Given the description of an element on the screen output the (x, y) to click on. 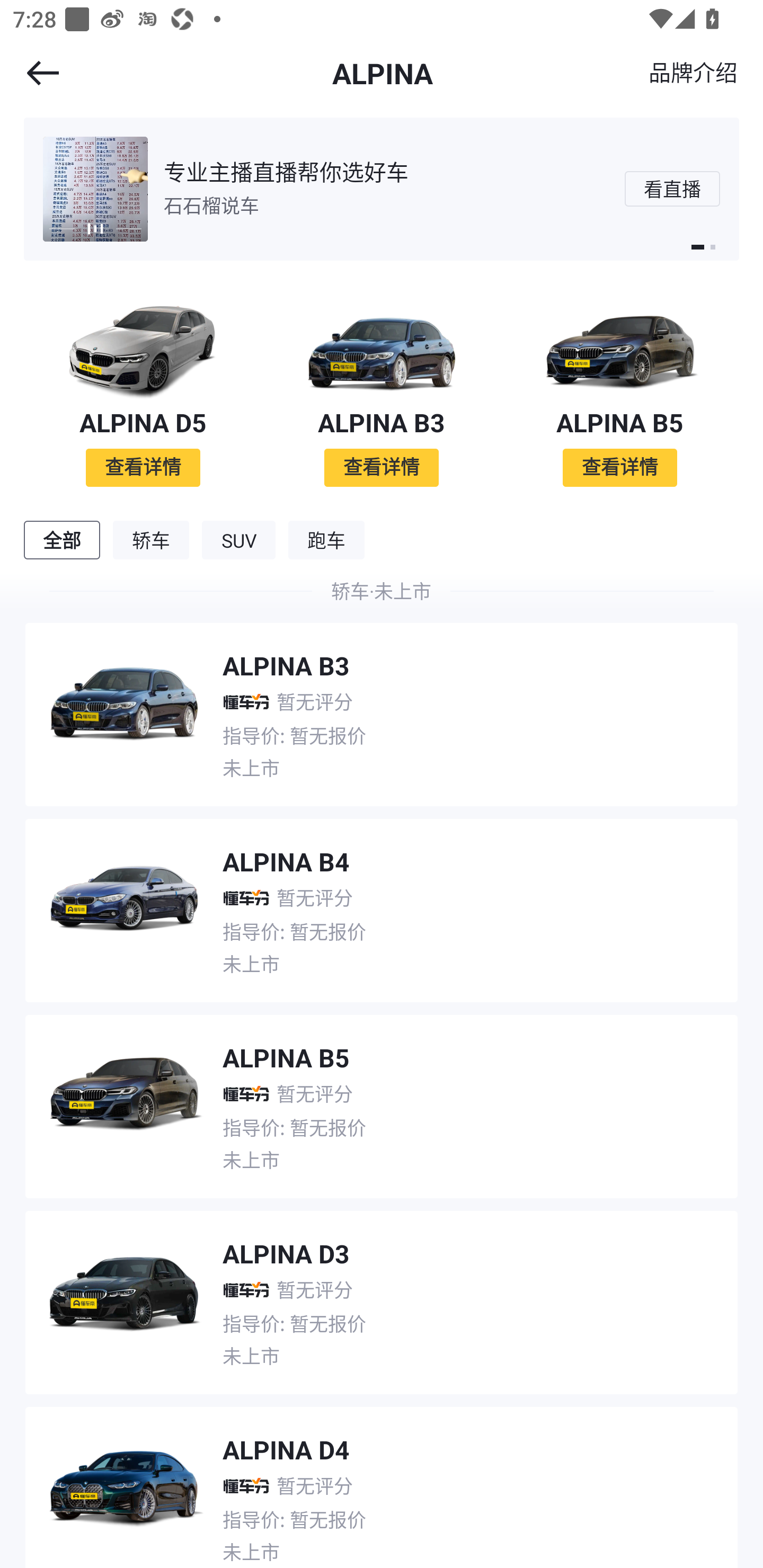
 (30, 72)
品牌介绍 (692, 71)
专业主播直播帮你选好车 石石榴说车 看直播 (381, 188)
ALPINA D5 查看详情 (142, 390)
ALPINA B3 查看详情 (381, 390)
ALPINA B5 查看详情 (619, 390)
查看详情 (143, 467)
查看详情 (381, 467)
查看详情 (619, 467)
全部 (61, 539)
轿车 (150, 539)
SUV (238, 539)
跑车 (326, 539)
ALPINA B3 暂无评分 指导价: 暂无报价 未上市 (381, 707)
ALPINA B4 暂无评分 指导价: 暂无报价 未上市 (381, 903)
ALPINA B5 暂无评分 指导价: 暂无报价 未上市 (381, 1099)
ALPINA D3 暂无评分 指导价: 暂无报价 未上市 (381, 1295)
ALPINA D4 暂无评分 指导价: 暂无报价 未上市 (381, 1480)
